Given the description of an element on the screen output the (x, y) to click on. 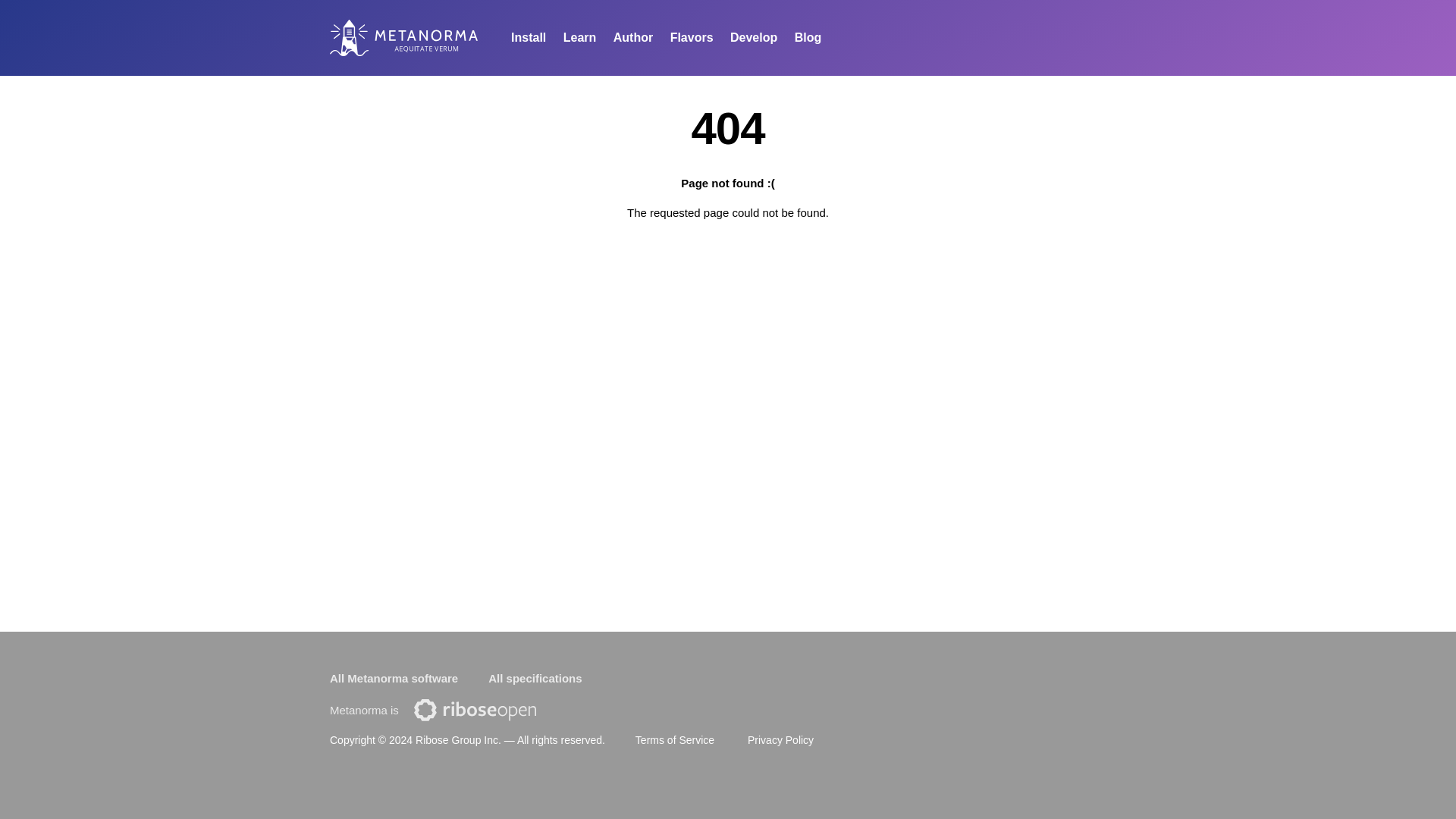
All Metanorma software (394, 678)
Flavors (691, 37)
Privacy Policy (780, 739)
Develop (753, 37)
Metanorma: Aequitate Verum (425, 40)
Blog (808, 37)
Install (528, 37)
All specifications (533, 678)
Learn (579, 37)
